Given the description of an element on the screen output the (x, y) to click on. 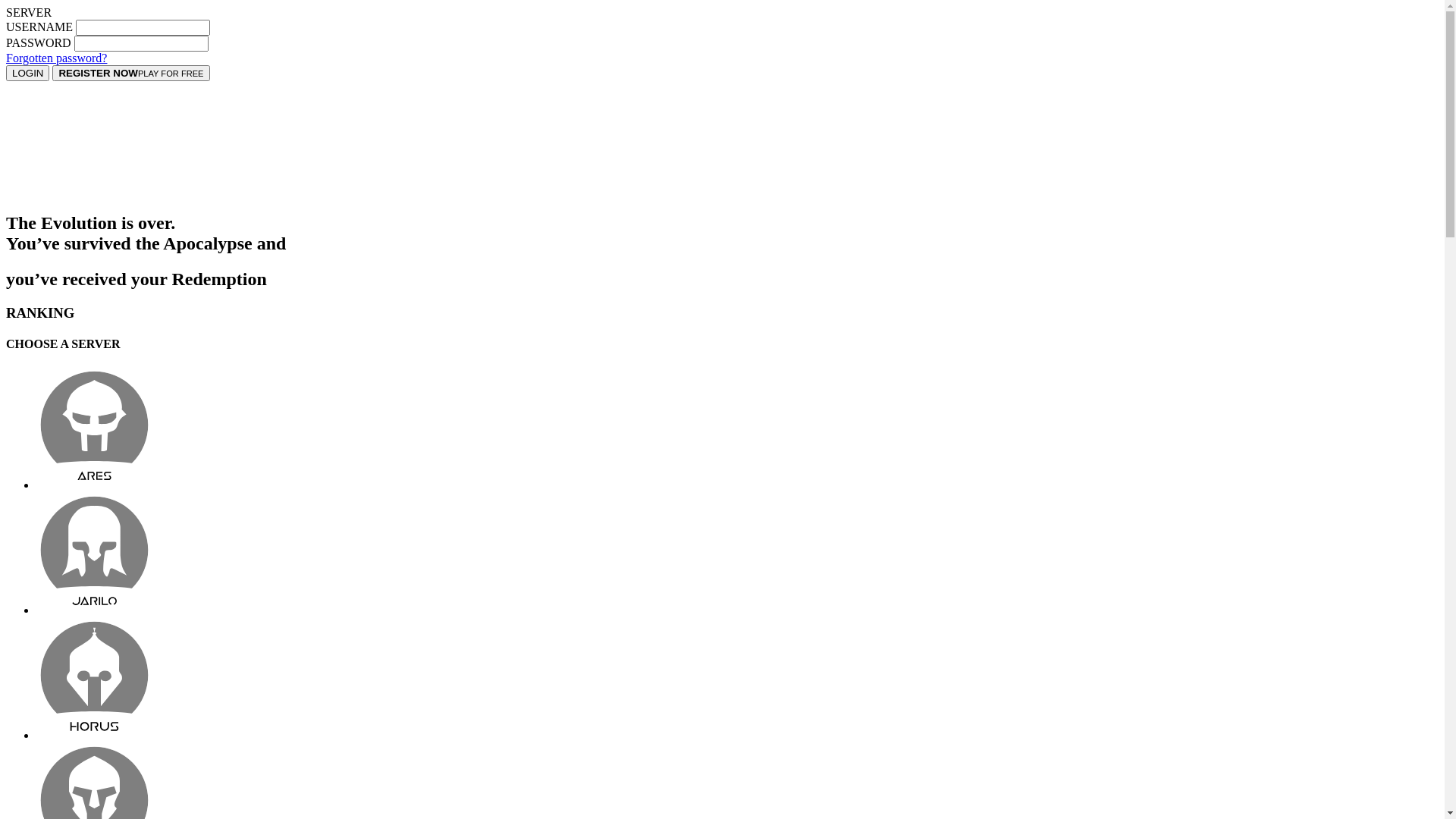
LOGIN Element type: text (27, 73)
REGISTER NOWPLAY FOR FREE Element type: text (130, 73)
Forgotten password? Element type: text (56, 57)
0 Element type: text (737, 429)
0 Element type: text (737, 679)
0 Element type: text (737, 554)
